Given the description of an element on the screen output the (x, y) to click on. 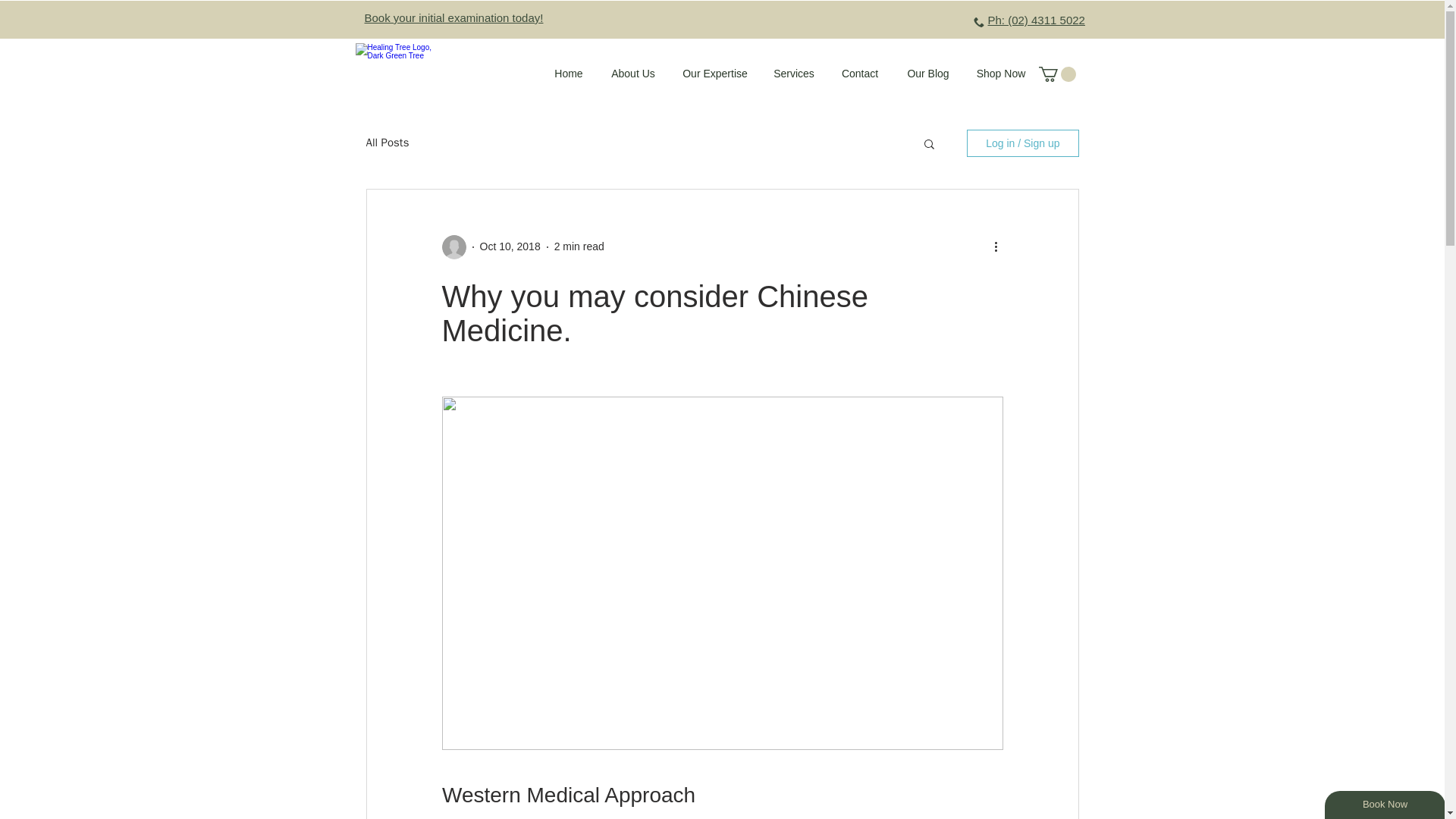
Contact (859, 73)
All Posts (387, 142)
2 min read (579, 246)
About Us (632, 73)
Book your initial examination today! (453, 17)
Shop Now (1000, 73)
Oct 10, 2018 (509, 246)
Our Blog (928, 73)
Home (568, 73)
